Given the description of an element on the screen output the (x, y) to click on. 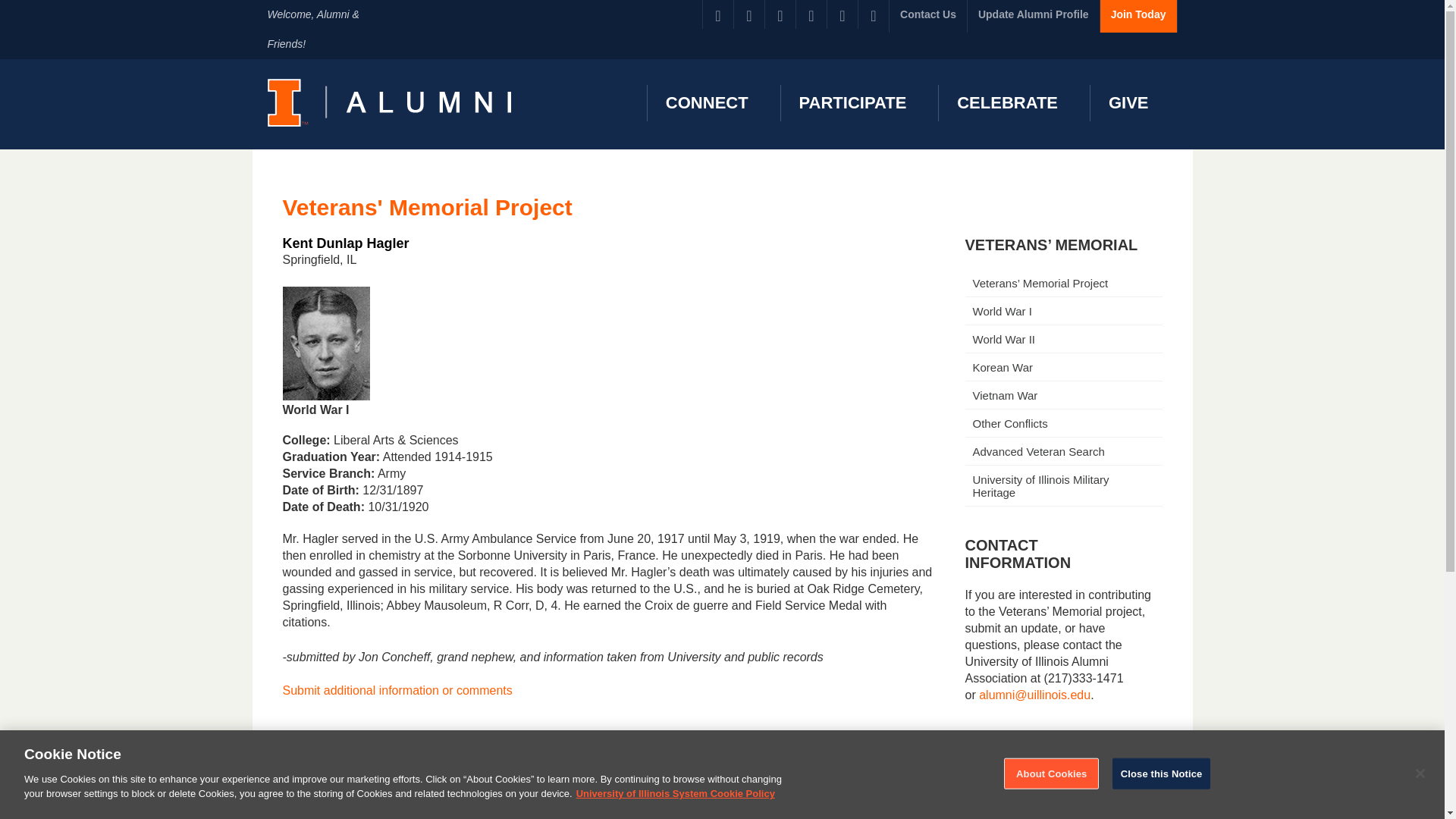
Linkedin (779, 14)
Twitter (748, 14)
Instagram (842, 14)
PARTICIPATE (850, 103)
GIVE (1126, 103)
Facebook (718, 14)
Join Today (1138, 16)
Search (22, 8)
Contact Us (927, 16)
Flickr (811, 14)
CONNECT (704, 103)
CELEBRATE (1004, 103)
Update Alumni Profile (1033, 16)
